Given the description of an element on the screen output the (x, y) to click on. 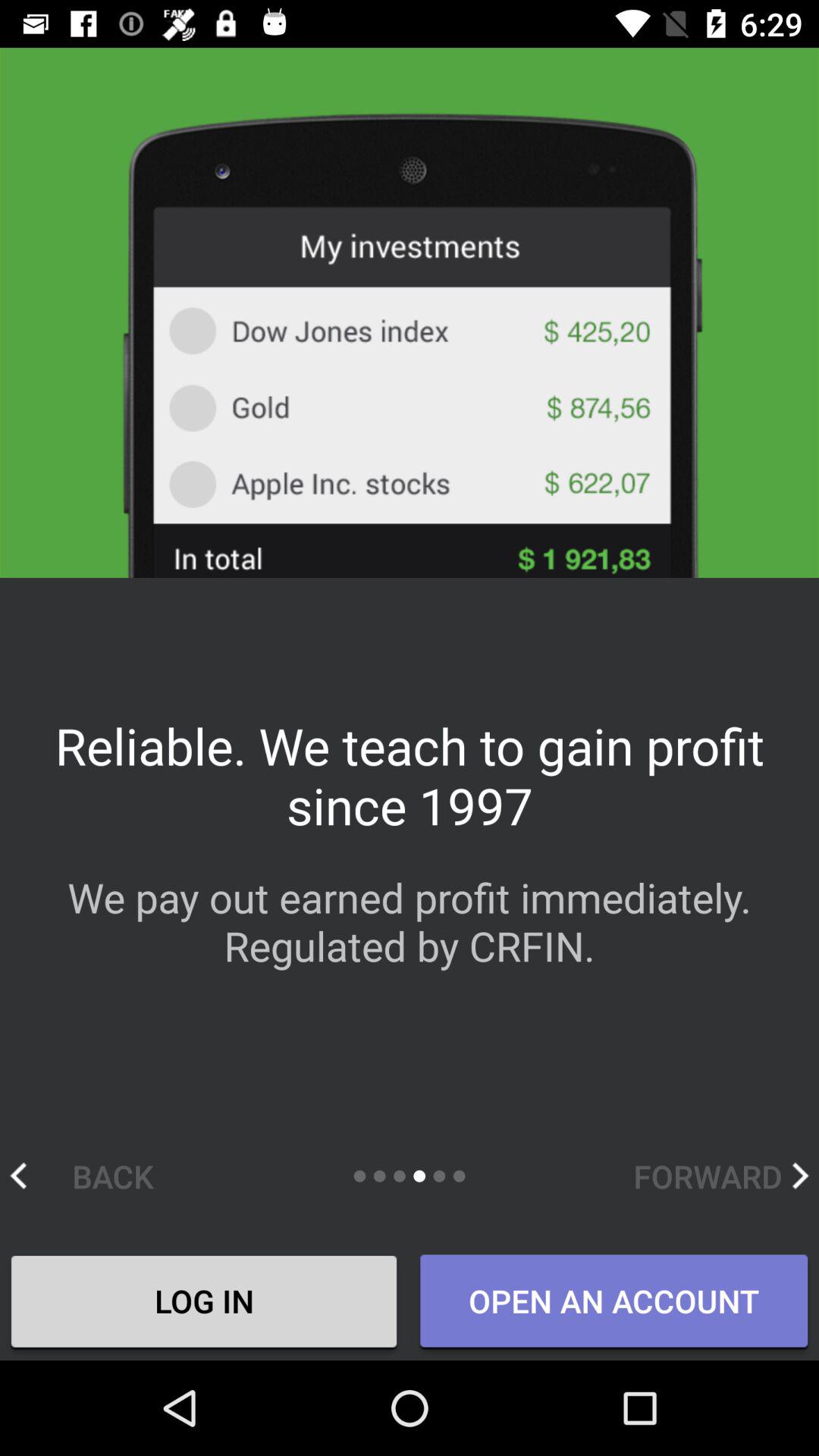
select icon below we pay out item (97, 1175)
